Given the description of an element on the screen output the (x, y) to click on. 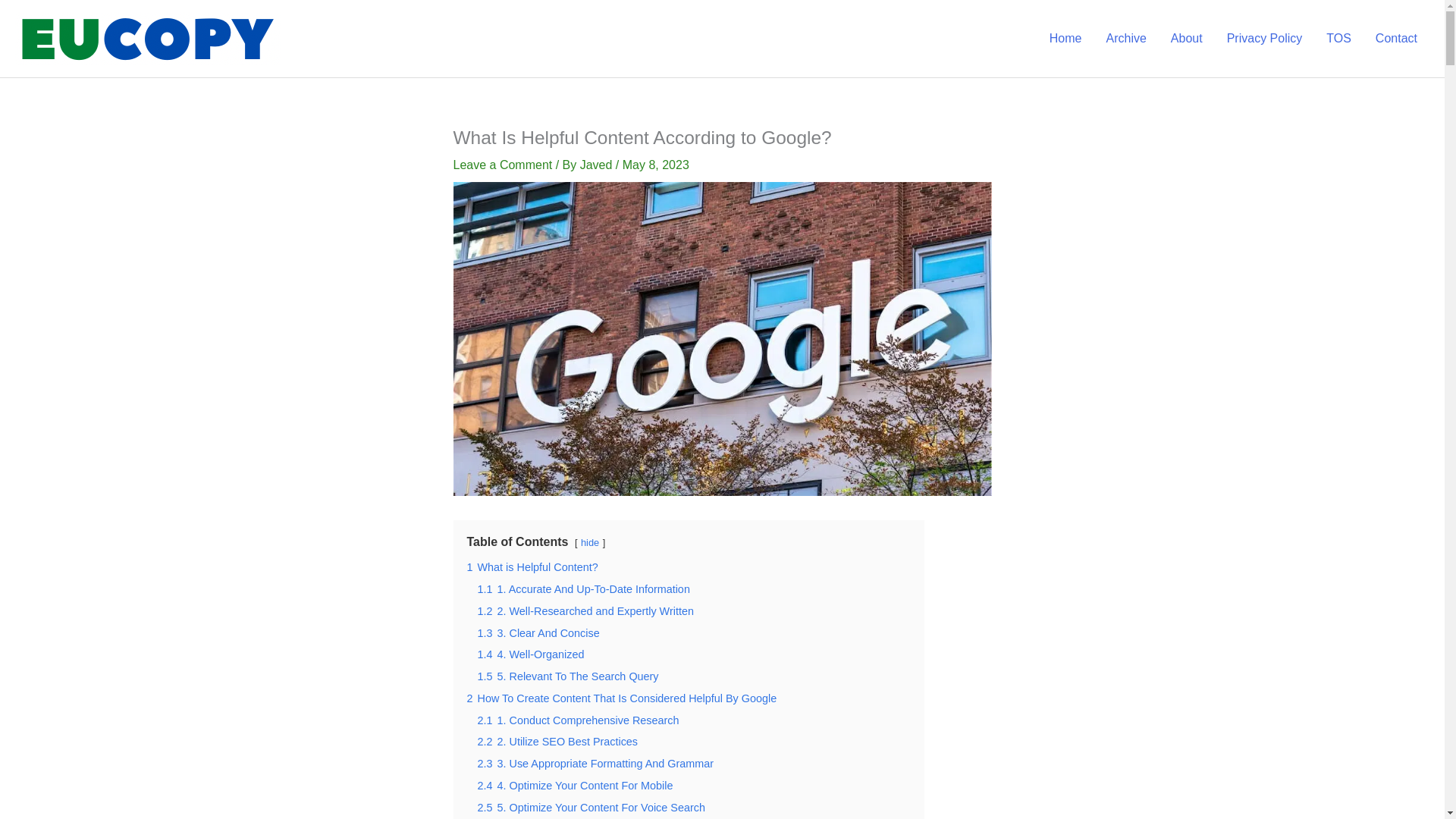
hide (589, 542)
Javed (597, 164)
Home (1065, 38)
About (1186, 38)
Privacy Policy (1264, 38)
Leave a Comment (502, 164)
2.3 3. Use Appropriate Formatting And Grammar (595, 763)
1.2 2. Well-Researched and Expertly Written (585, 611)
TOS (1338, 38)
1.1 1. Accurate And Up-To-Date Information (583, 589)
